Given the description of an element on the screen output the (x, y) to click on. 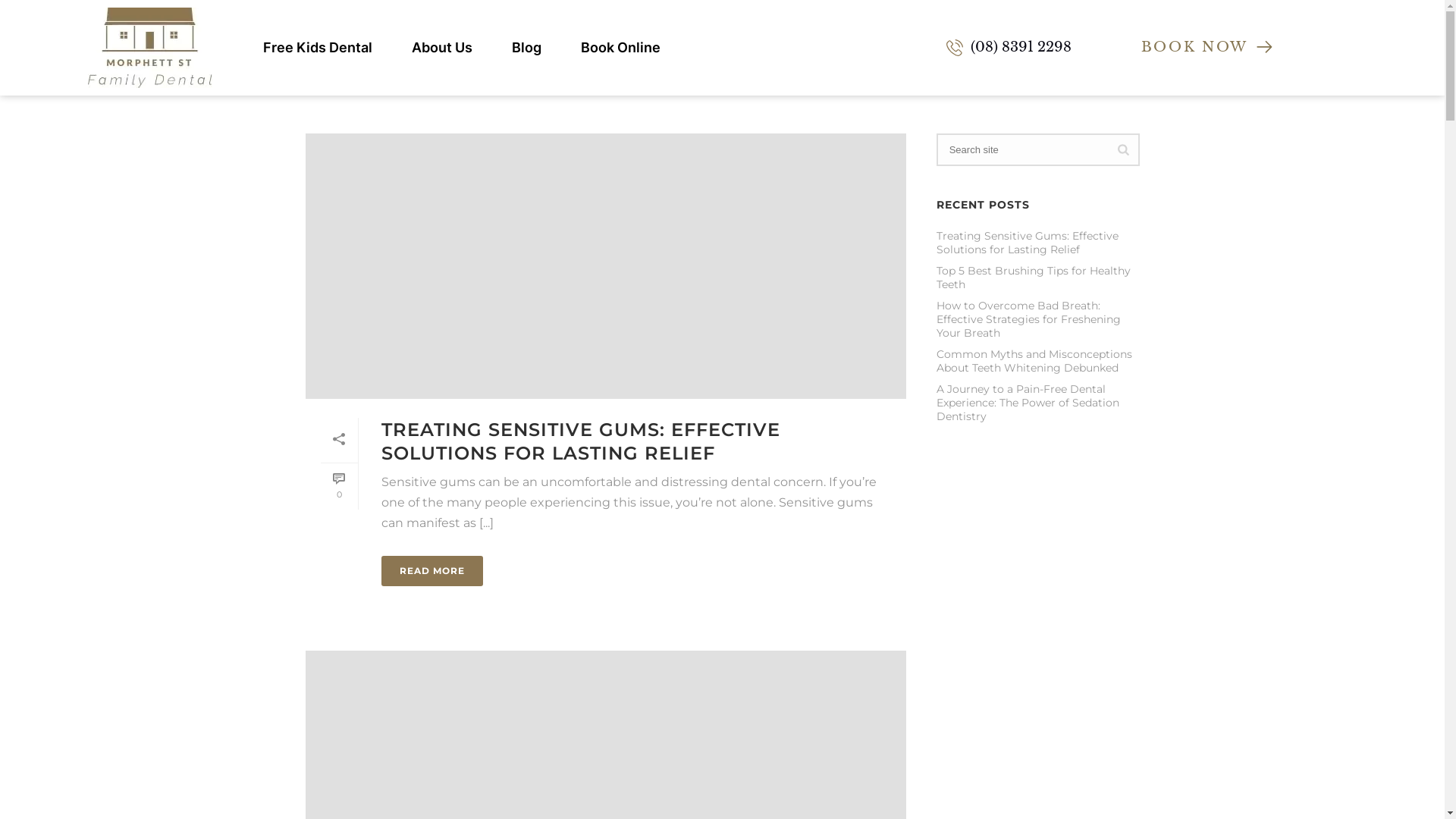
Free Kids Dental Element type: text (317, 47)
BOOK NOW Element type: text (1207, 47)
About Us Element type: text (441, 47)
READ MORE Element type: text (431, 570)
Top 5 Best Brushing Tips for Healthy Teeth Element type: text (1037, 277)
(08) 8391 2298 Element type: text (1036, 47)
  Element type: text (604, 265)
0 Element type: text (338, 486)
Blog Element type: text (526, 47)
Book Online Element type: text (620, 47)
